Given the description of an element on the screen output the (x, y) to click on. 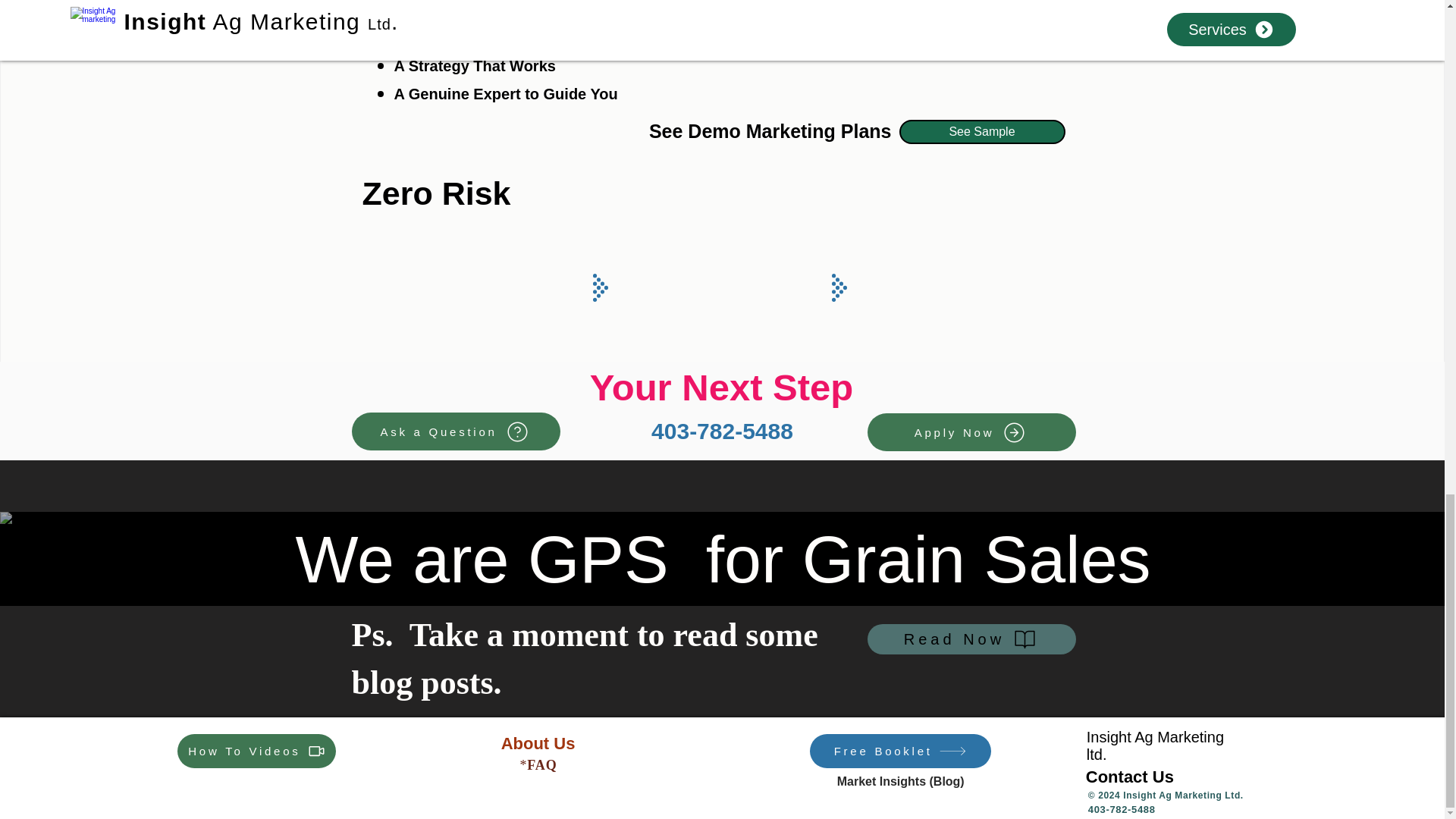
403-782-5488 (1121, 808)
About Us (537, 742)
Ask a Question (456, 431)
403-782-5488 (721, 430)
See Sample (982, 131)
Apply Now (971, 432)
How To Videos (256, 750)
Read Now (971, 639)
Insight Ag Marketing ltd. (1155, 745)
Contact Us (1129, 776)
Free Booklet (900, 750)
